Given the description of an element on the screen output the (x, y) to click on. 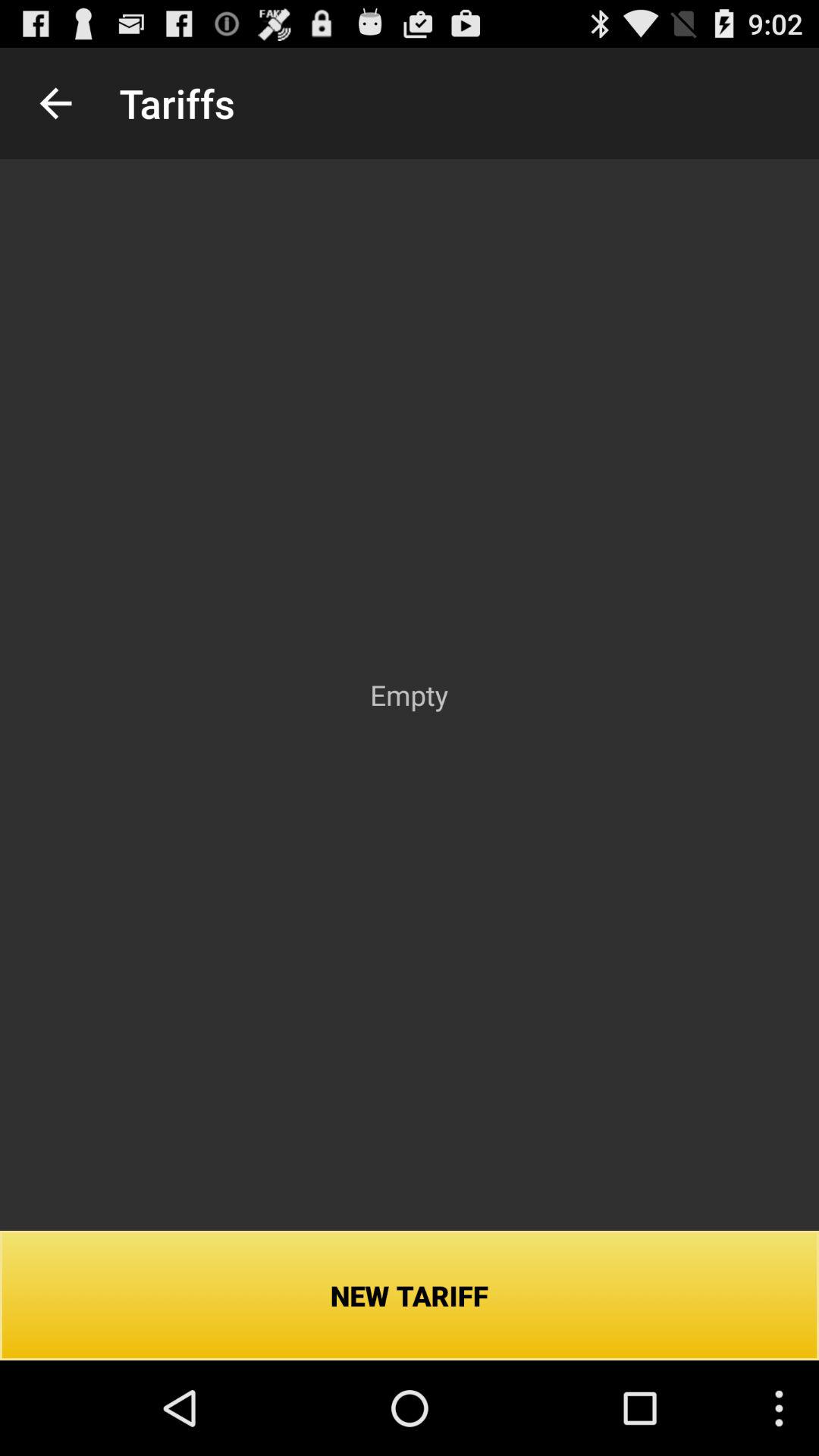
jump to the new tariff (409, 1295)
